Given the description of an element on the screen output the (x, y) to click on. 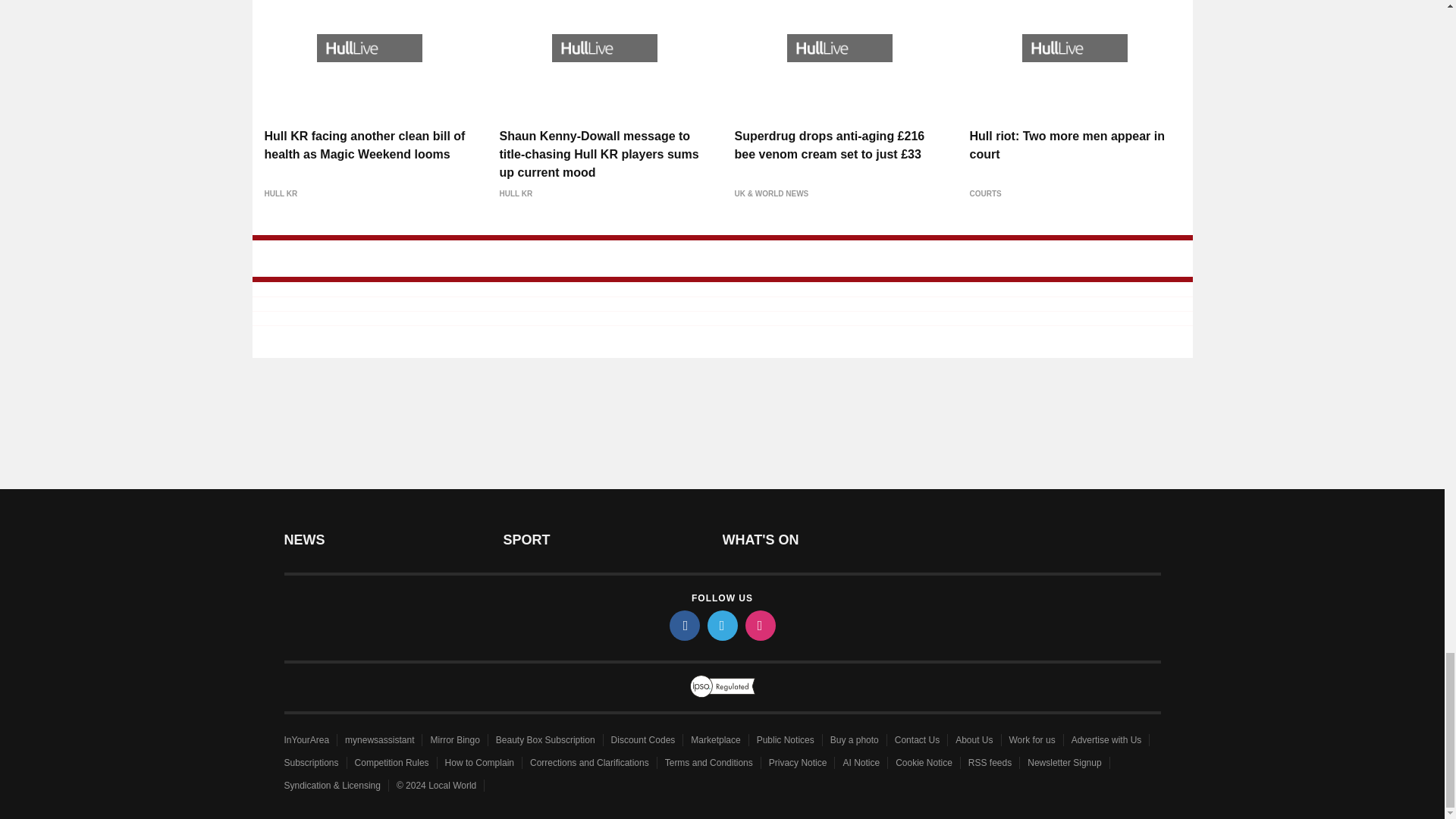
instagram (759, 625)
facebook (683, 625)
twitter (721, 625)
